Given the description of an element on the screen output the (x, y) to click on. 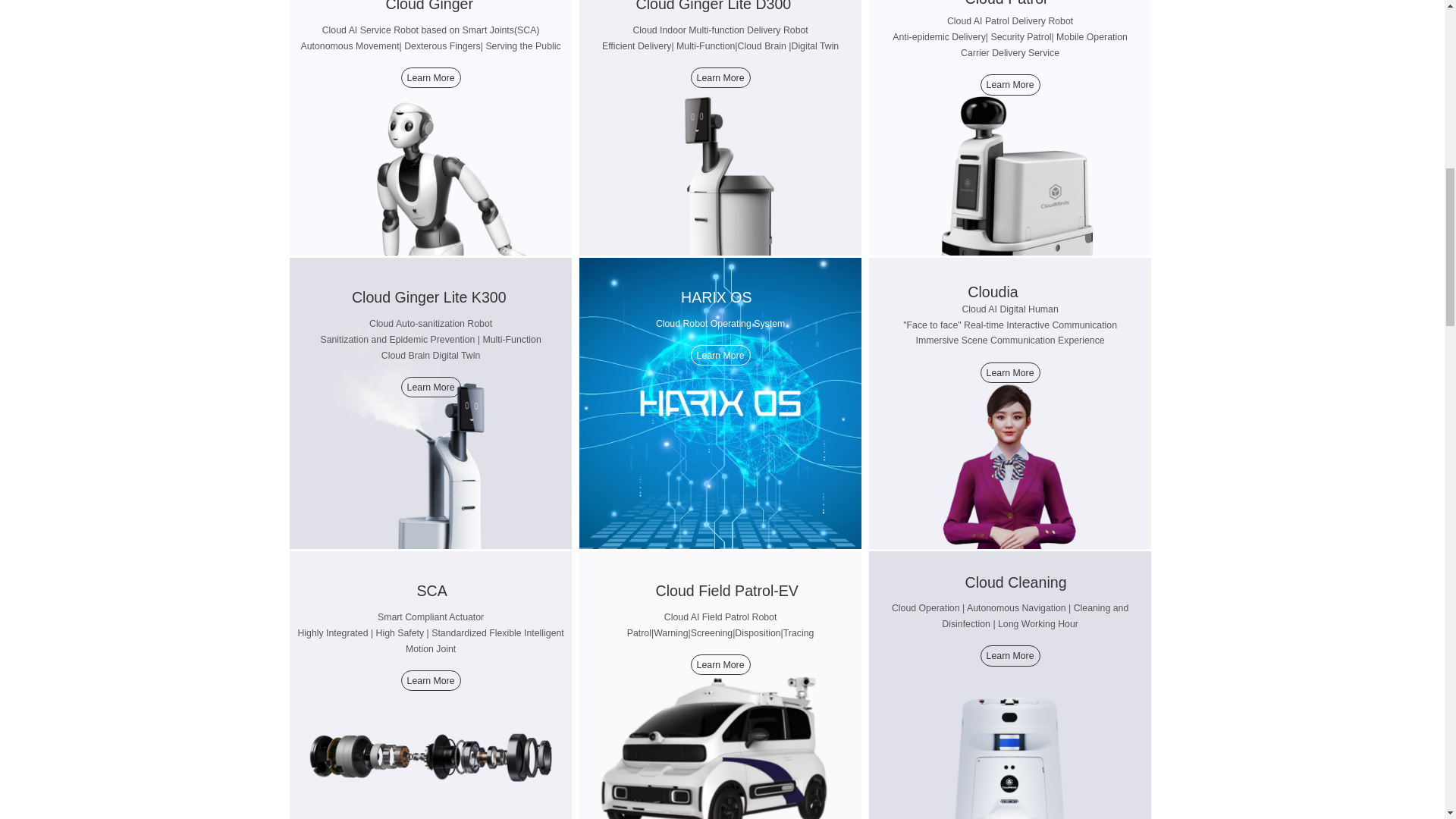
Learn More (720, 354)
Learn More (431, 77)
Learn More (1010, 655)
Learn More (720, 664)
Learn More (431, 680)
Learn More (720, 77)
Learn More (431, 386)
Learn More (1010, 372)
Learn More (1010, 84)
